Given the description of an element on the screen output the (x, y) to click on. 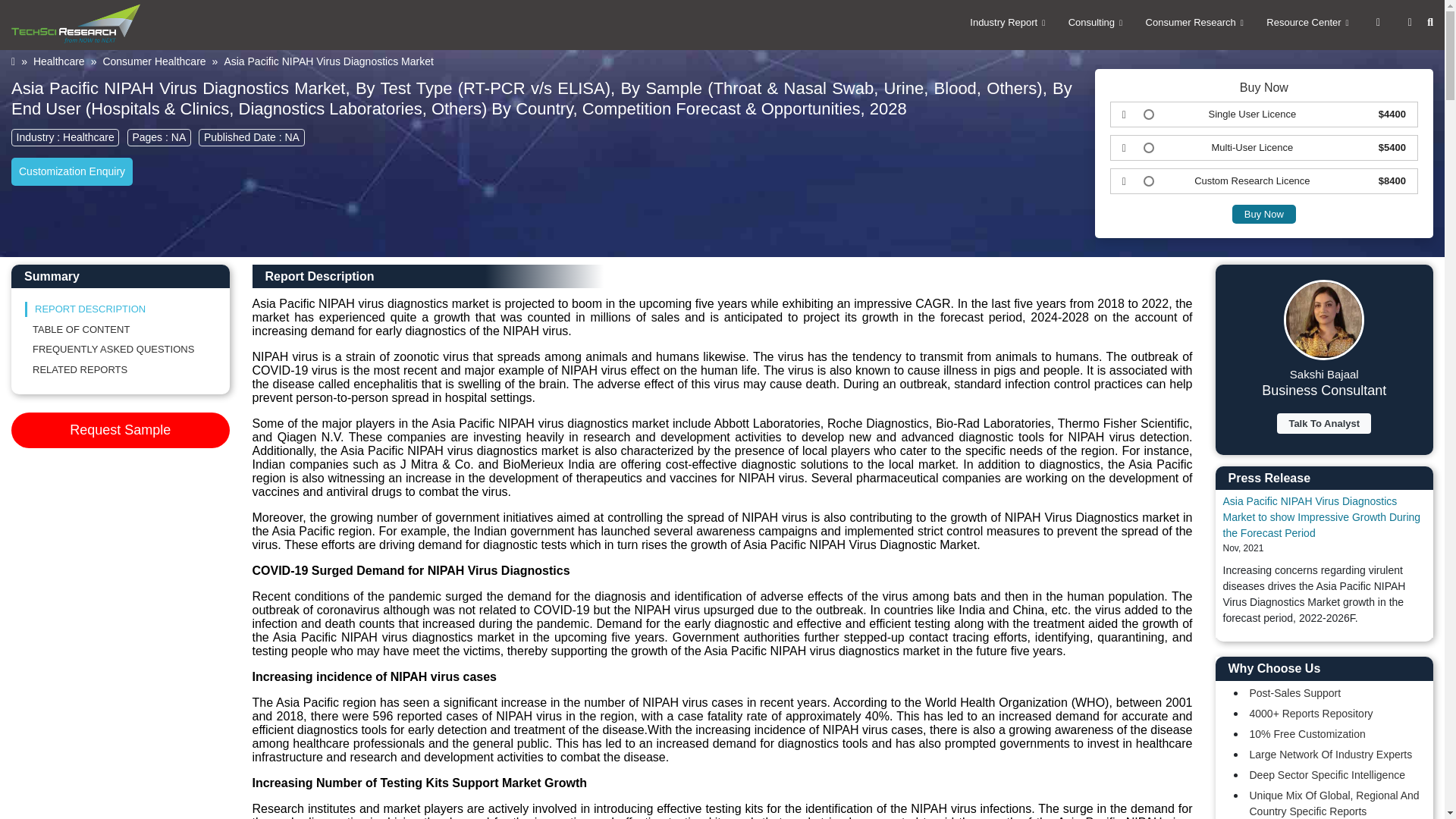
Industry Report (1003, 22)
Buy Now (1263, 214)
